Given the description of an element on the screen output the (x, y) to click on. 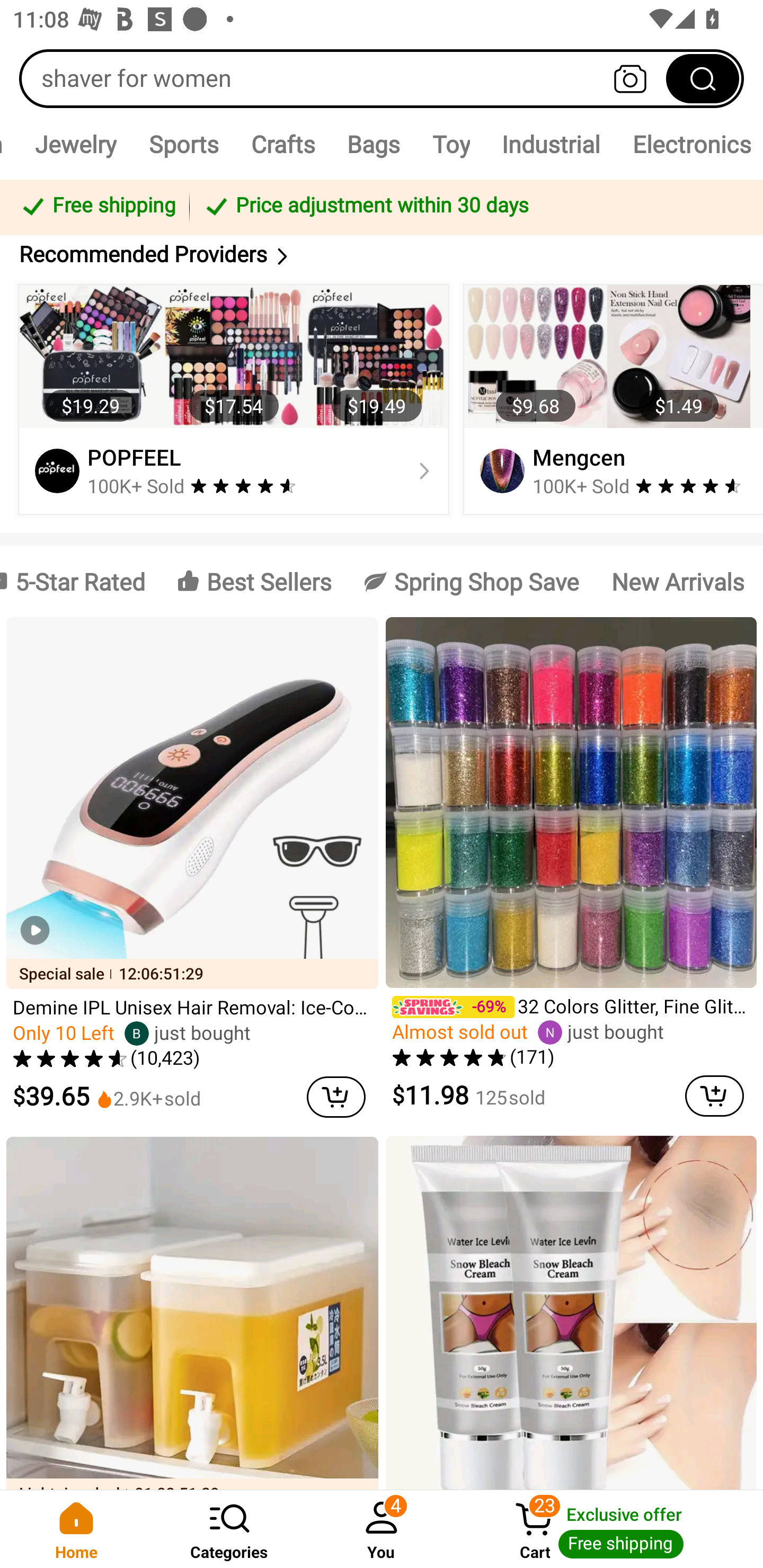
shaver for women (381, 78)
Jewelry (75, 144)
Sports (183, 144)
Crafts (283, 144)
Bags (373, 144)
Toy (450, 144)
Industrial (551, 144)
Electronics (689, 144)
Free shipping (97, 206)
Price adjustment within 30 days (472, 206)
Recommended Providers (381, 254)
$19.29 $17.54 $19.49 POPFEEL 100K+ Sold (233, 399)
$9.68 $1.49 Mengcen 100K+ Sold (610, 399)
5-Star Rated 5-Star Rated 5-Star Rated (80, 581)
Best Sellers Best Sellers Best Sellers (253, 581)
Spring Shop Save Spring Shop Save Spring Shop Save (471, 581)
New Arrivals (677, 581)
cart delete (714, 1095)
cart delete (335, 1096)
Home (76, 1528)
Categories (228, 1528)
You 4 You (381, 1528)
Cart 23 Cart Exclusive offer (610, 1528)
